Given the description of an element on the screen output the (x, y) to click on. 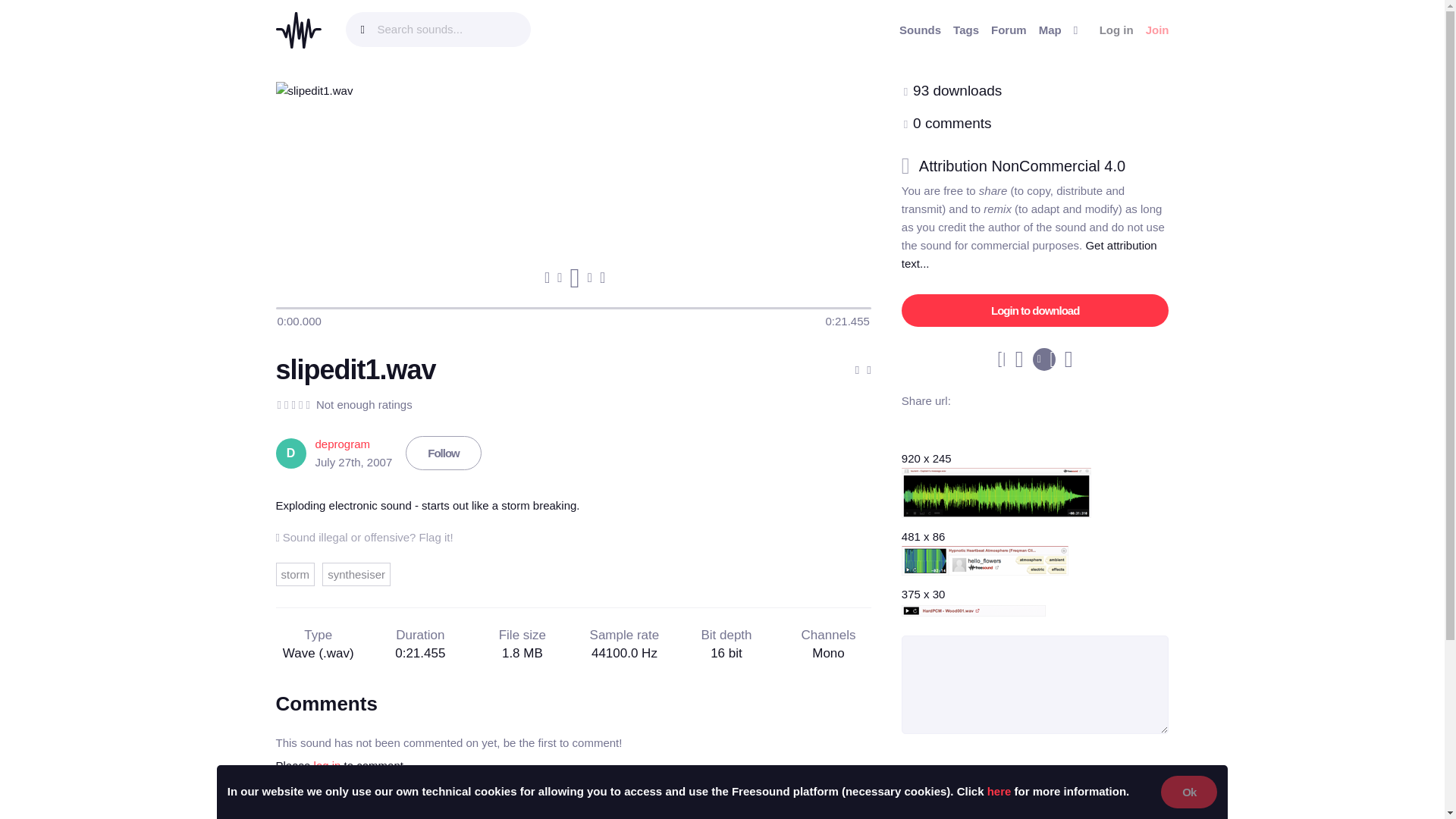
Log in (1116, 29)
Sound illegal or offensive? Flag it! (364, 536)
synthesiser (355, 574)
Flag this sound as illegal, offensive or other... (364, 536)
Join (1157, 29)
storm (295, 574)
This sound has received 0 comments (951, 123)
Average rating not shown as there are not enough ratings (293, 404)
Follow (443, 452)
slipedit1.wav (355, 368)
